Given the description of an element on the screen output the (x, y) to click on. 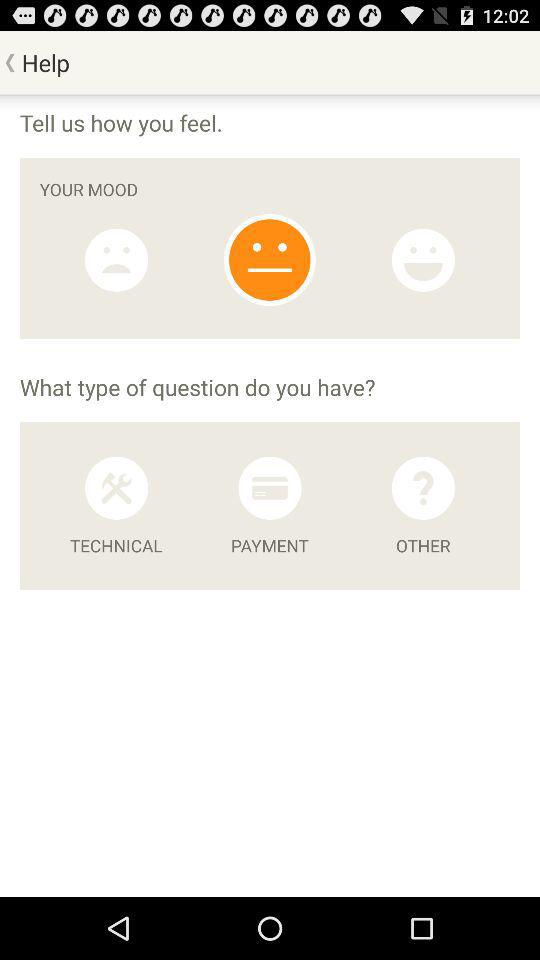
question about payment (269, 488)
